Given the description of an element on the screen output the (x, y) to click on. 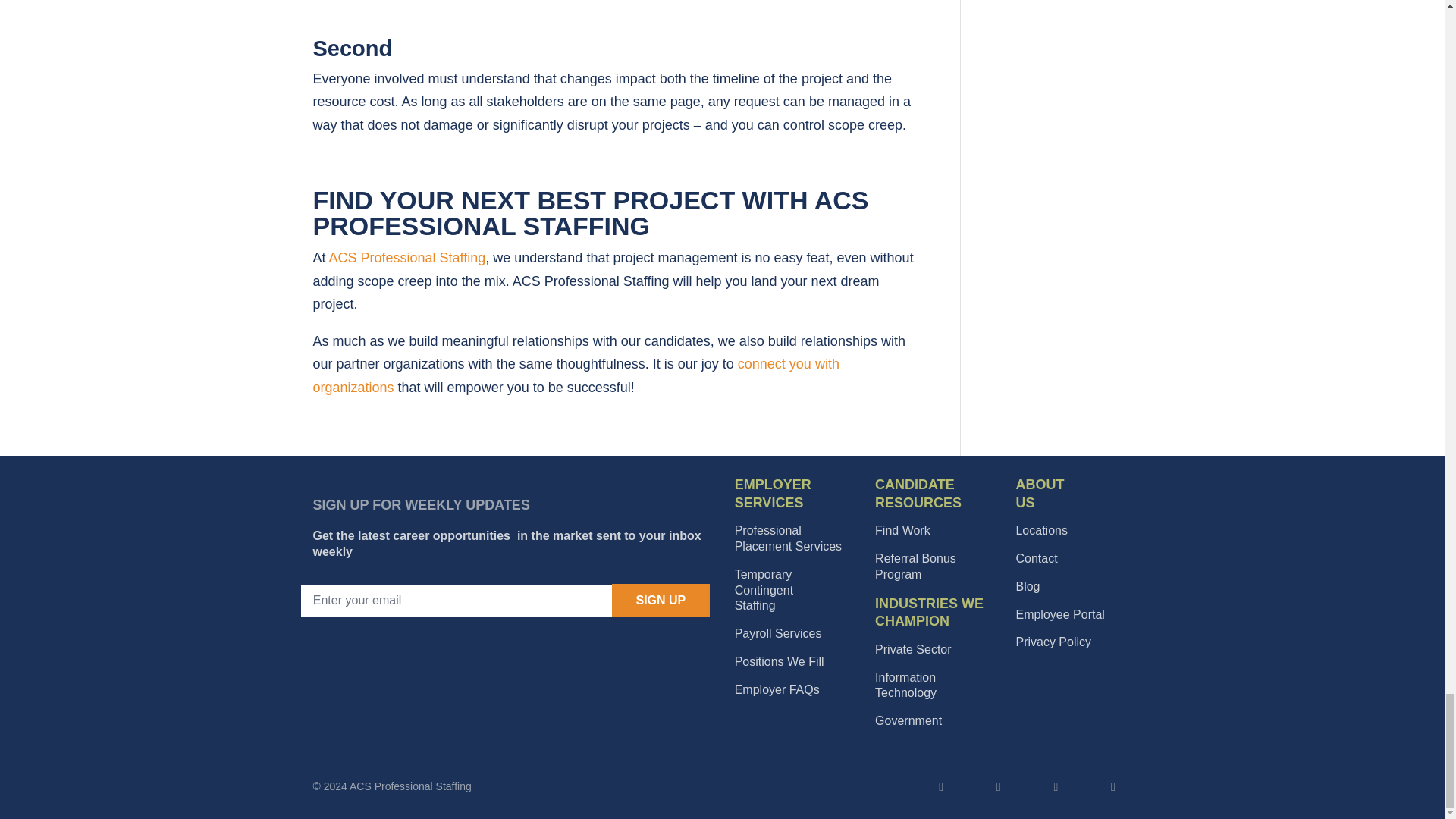
Employer FAQs (777, 689)
Find Work (902, 530)
connect you with organizations (575, 375)
SIGN UP (660, 599)
Payroll Services (764, 590)
ACS Professional Staffing (788, 538)
Positions We Fill (778, 633)
